Given the description of an element on the screen output the (x, y) to click on. 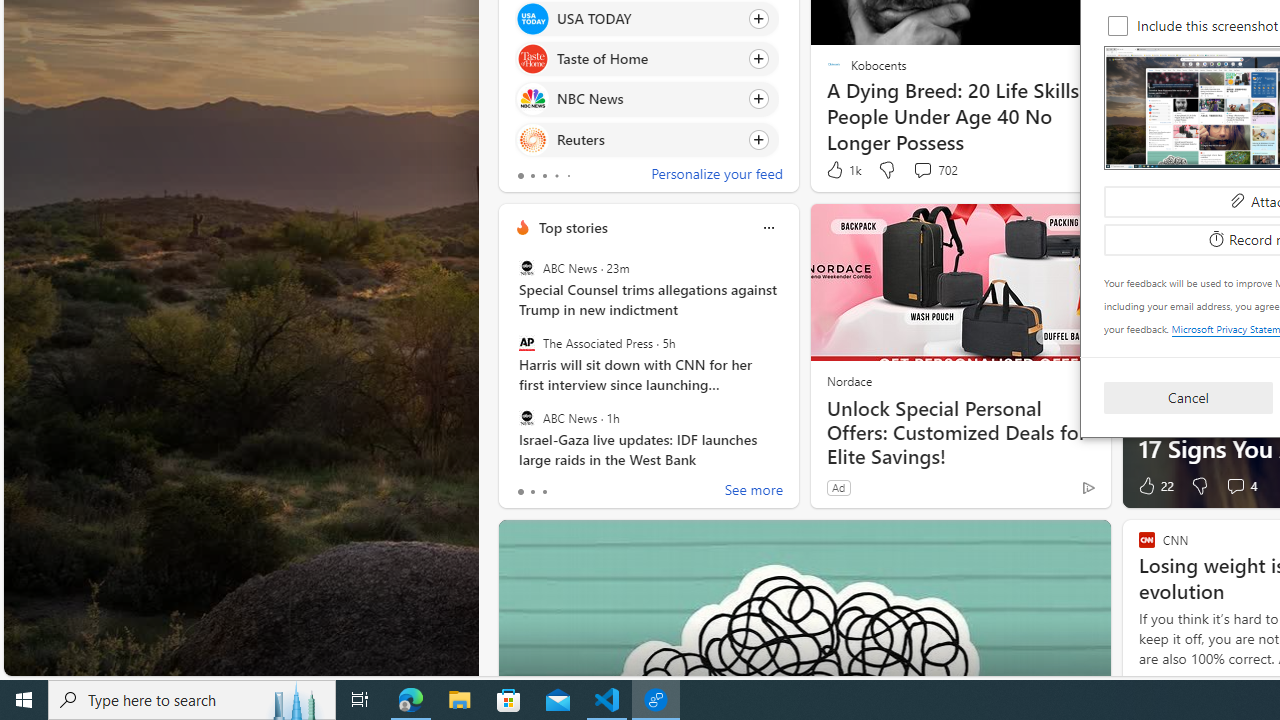
tab-0 (520, 491)
